Given the description of an element on the screen output the (x, y) to click on. 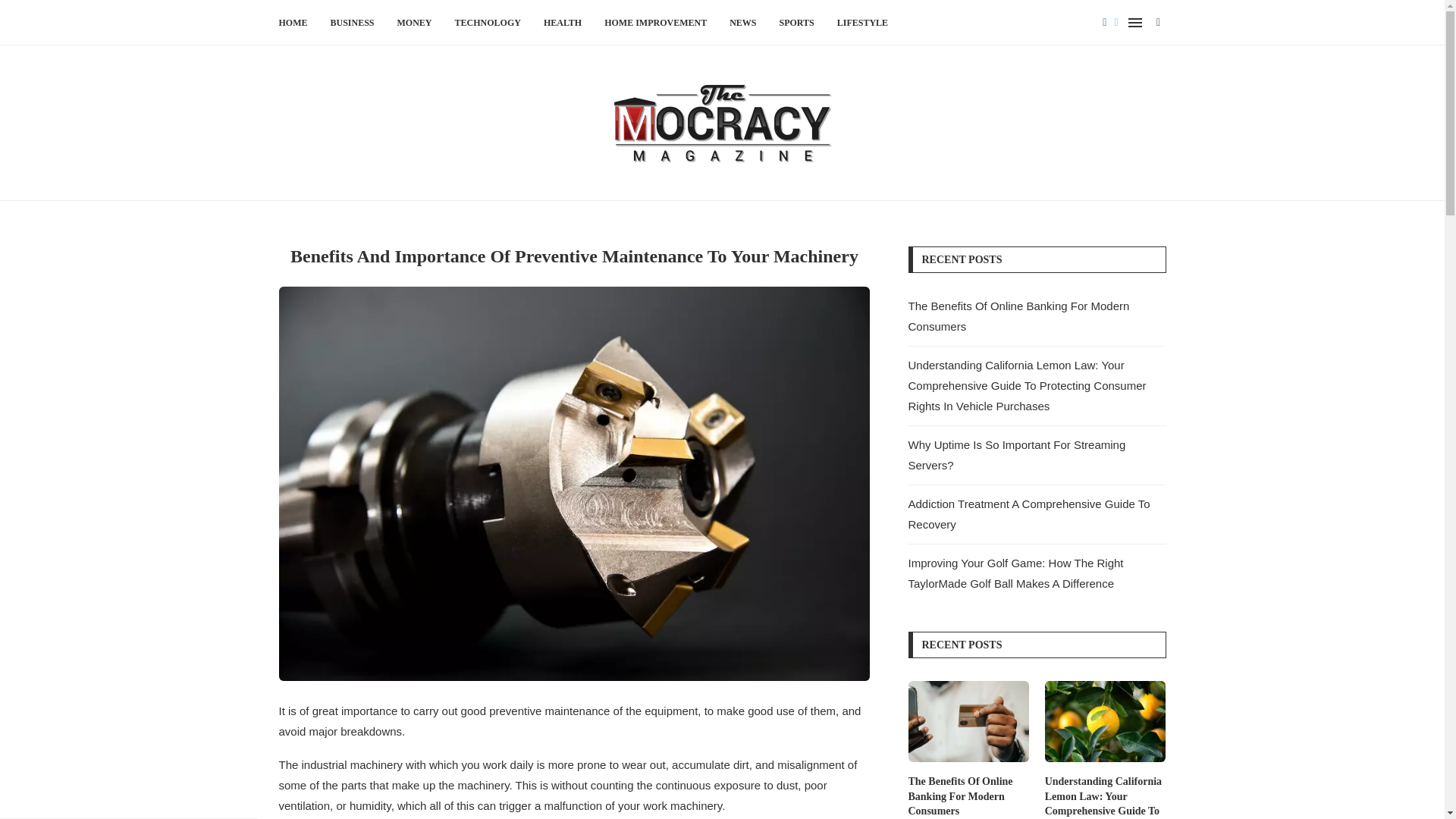
BUSINESS (352, 22)
TECHNOLOGY (487, 22)
LIFESTYLE (862, 22)
HOME IMPROVEMENT (655, 22)
